Given the description of an element on the screen output the (x, y) to click on. 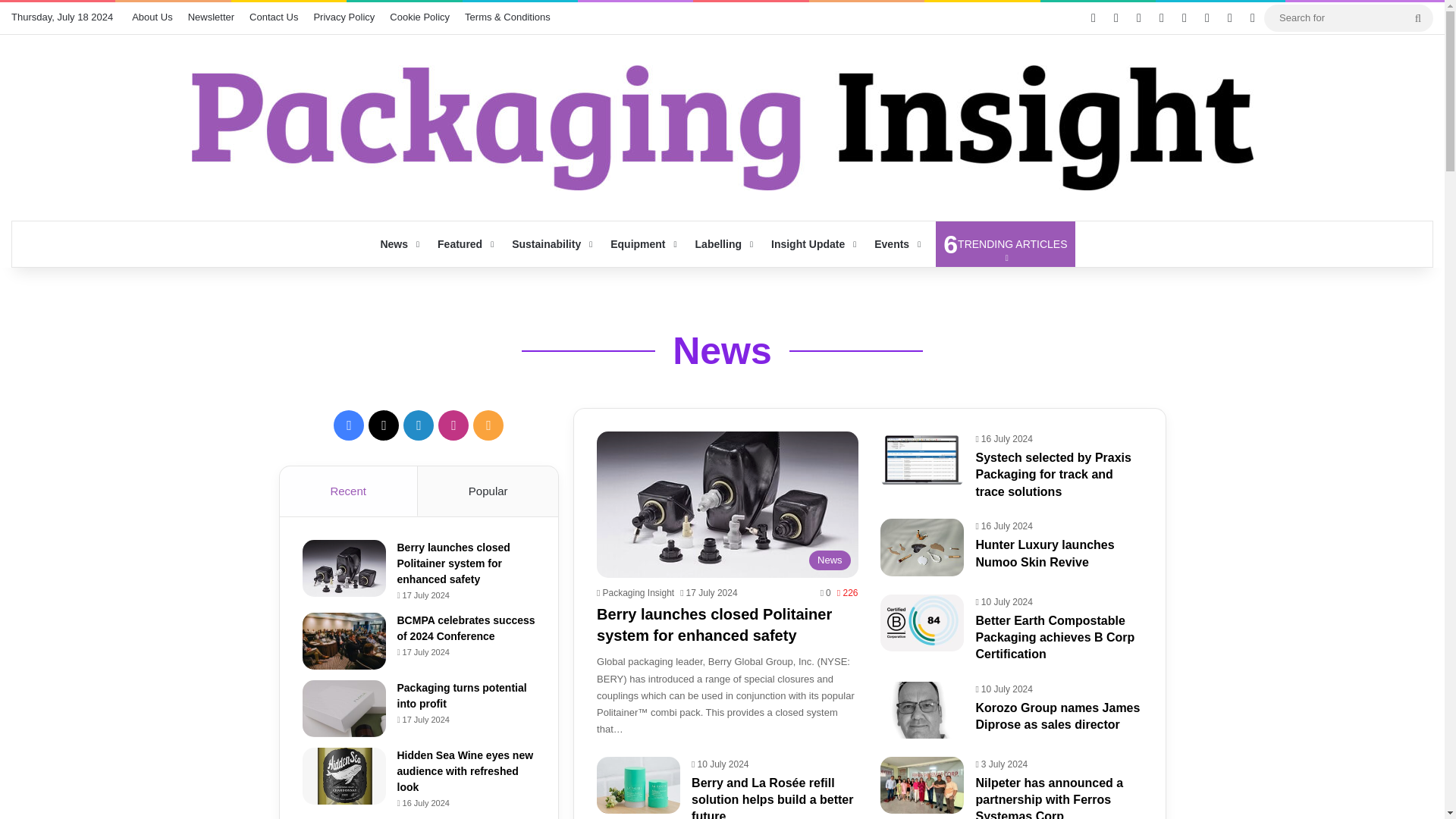
Insight Update (811, 243)
Featured (463, 243)
Contact Us (273, 17)
Events (895, 243)
Sustainability (549, 243)
Labelling (722, 243)
Search for (1417, 17)
Packaging Insight (635, 593)
About Us (151, 17)
News (397, 243)
Newsletter (210, 17)
Search for (1347, 17)
News (1005, 243)
Privacy Policy (721, 351)
